Given the description of an element on the screen output the (x, y) to click on. 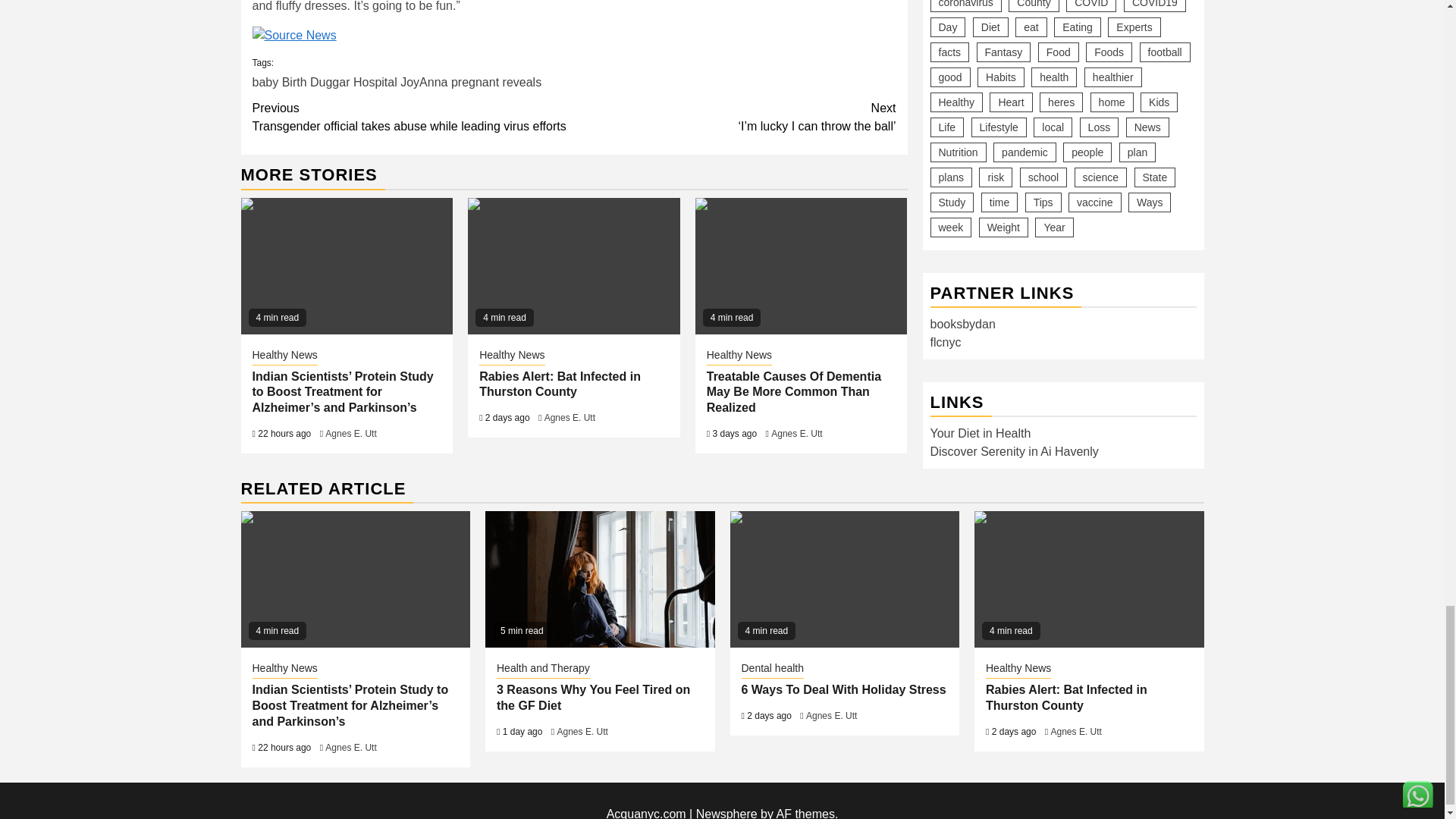
Birth (294, 82)
JoyAnna (423, 82)
3 Reasons Why You Feel Tired on the GF Diet (599, 579)
Rabies Alert: Bat Infected in Thurston County (573, 266)
Tags: (573, 72)
Healthy News (284, 356)
baby (264, 82)
6 Ways To Deal With Holiday Stress (844, 579)
Hospital (375, 82)
